Given the description of an element on the screen output the (x, y) to click on. 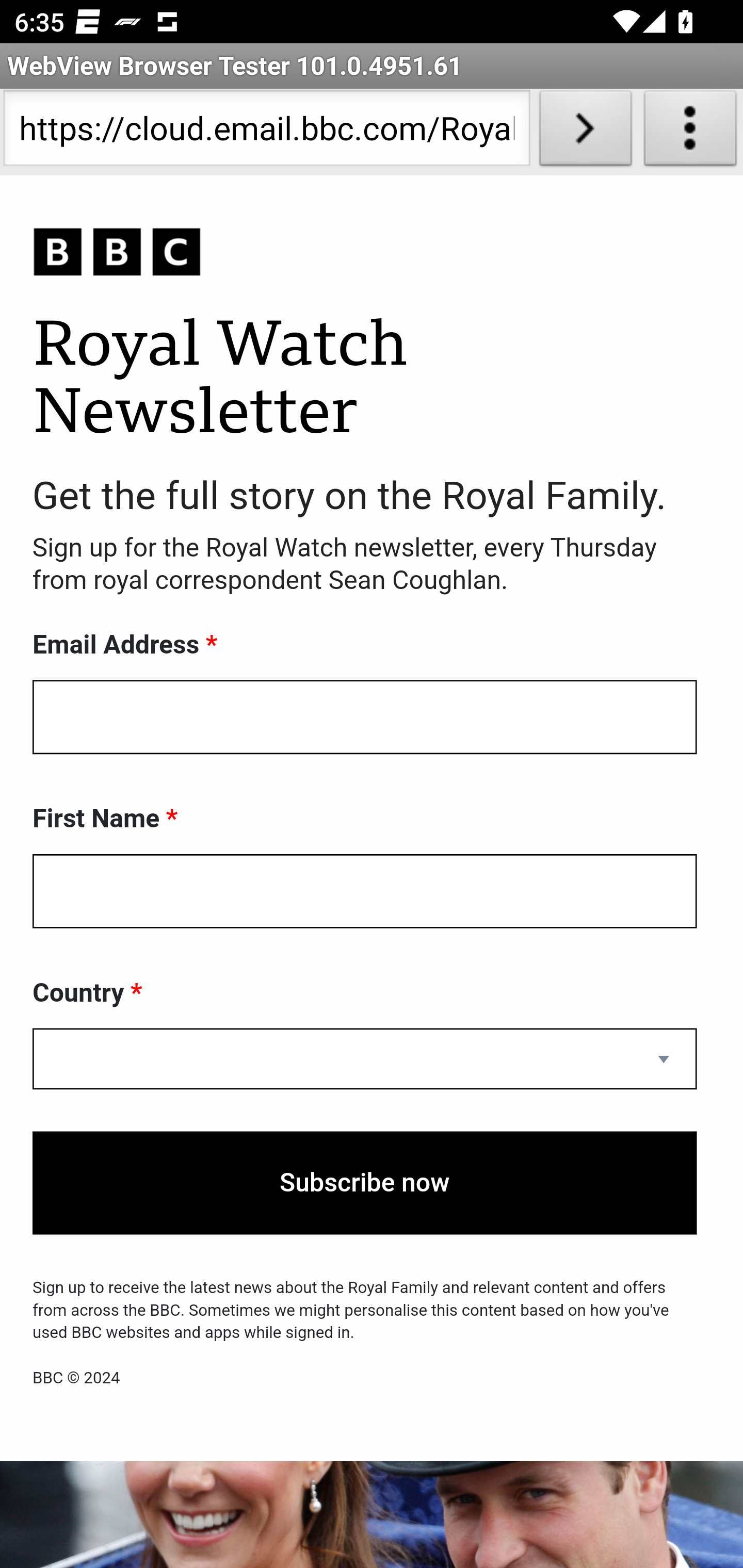
Load URL (585, 132)
About WebView (690, 132)
BBC (364, 253)
Subscribe now (364, 1182)
